Given the description of an element on the screen output the (x, y) to click on. 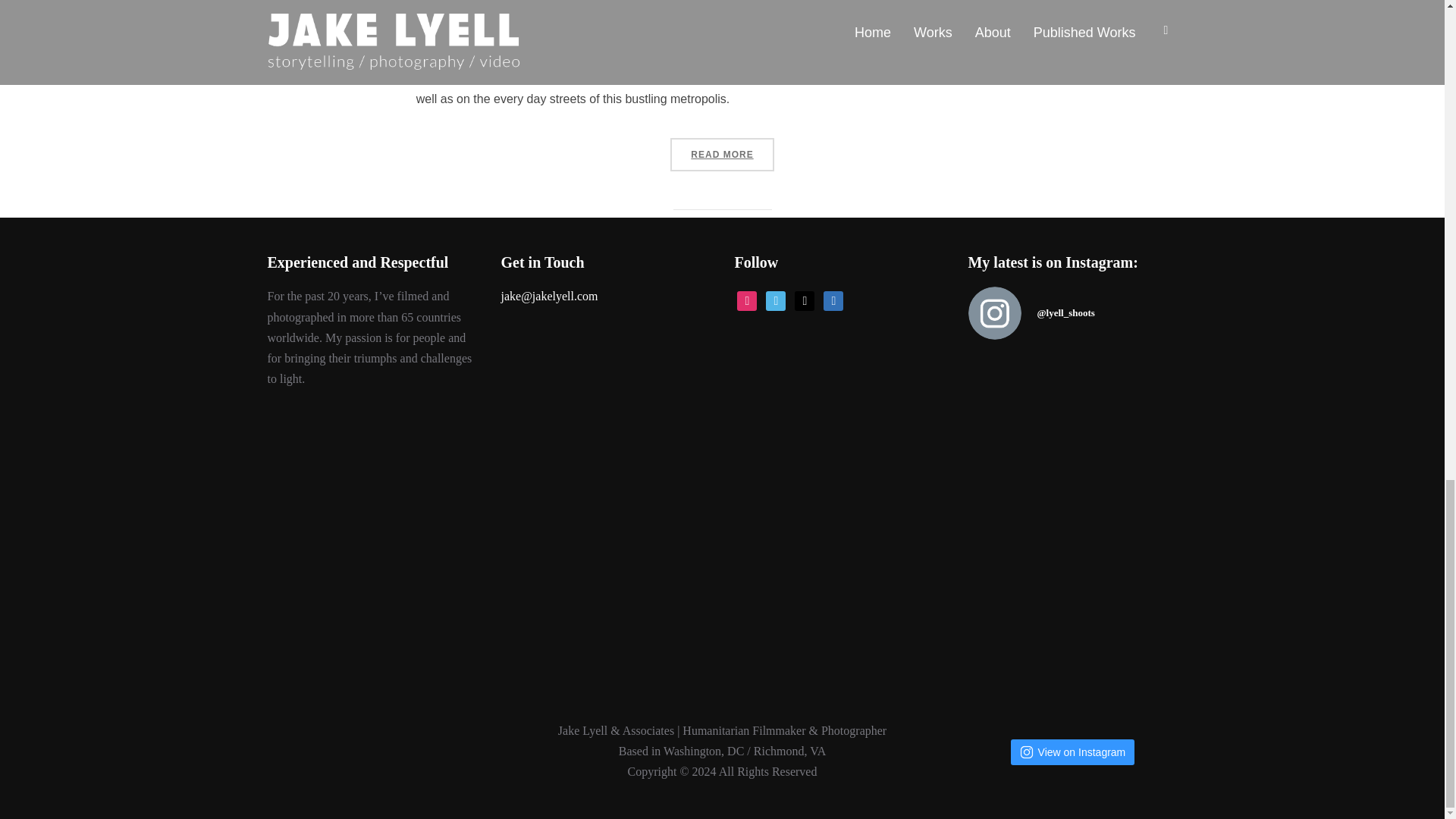
Default Label (803, 298)
instagram (746, 298)
Default Label (775, 298)
Instagram (746, 298)
mail (803, 298)
vimeo (775, 298)
READ MORE (721, 154)
Default Label (833, 298)
linkedin (833, 298)
